Given the description of an element on the screen output the (x, y) to click on. 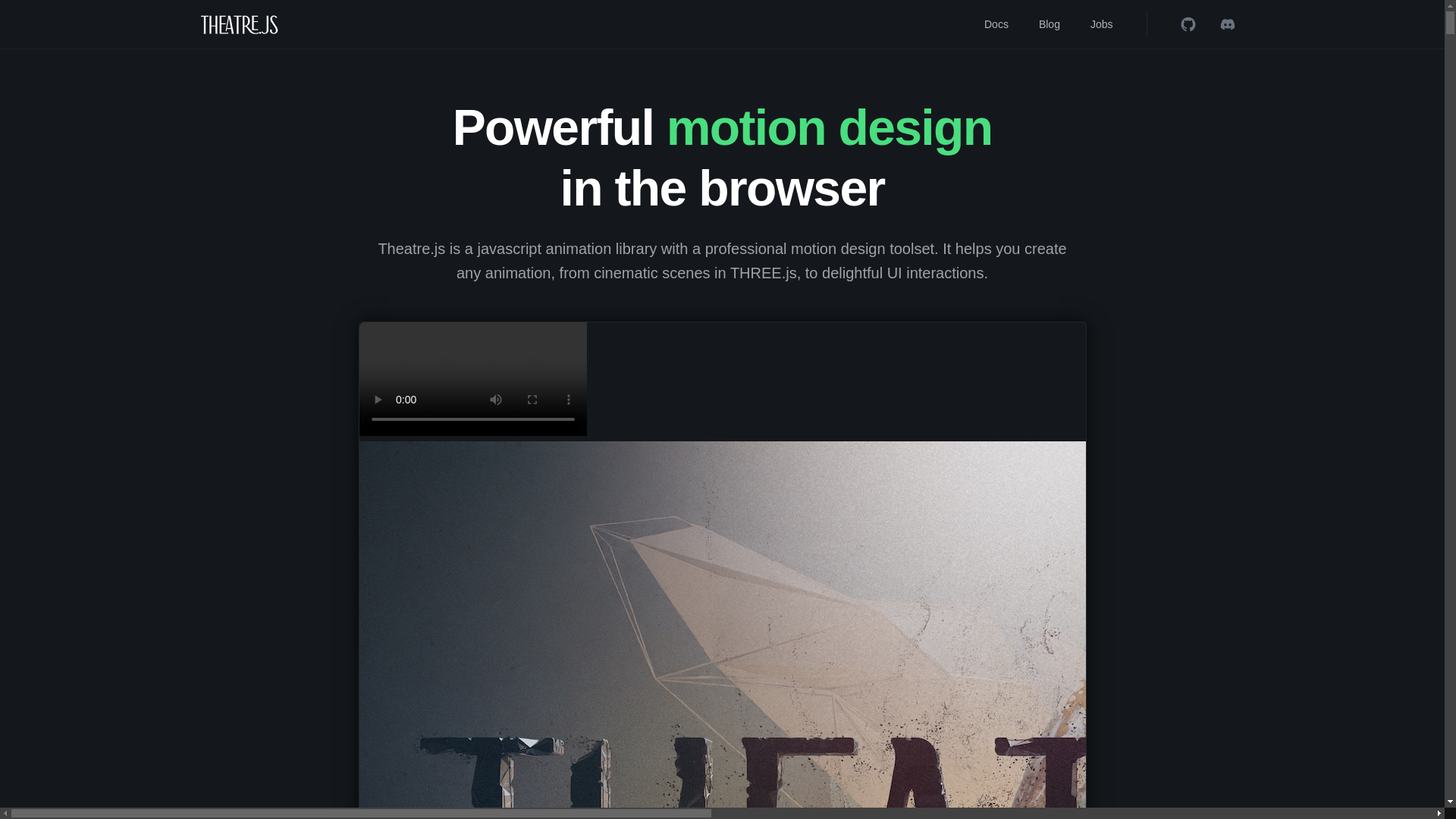
Discord (1226, 24)
Blog (1048, 24)
Theatre.js (239, 24)
Docs (996, 24)
Jobs (1101, 24)
Github (1187, 24)
